Given the description of an element on the screen output the (x, y) to click on. 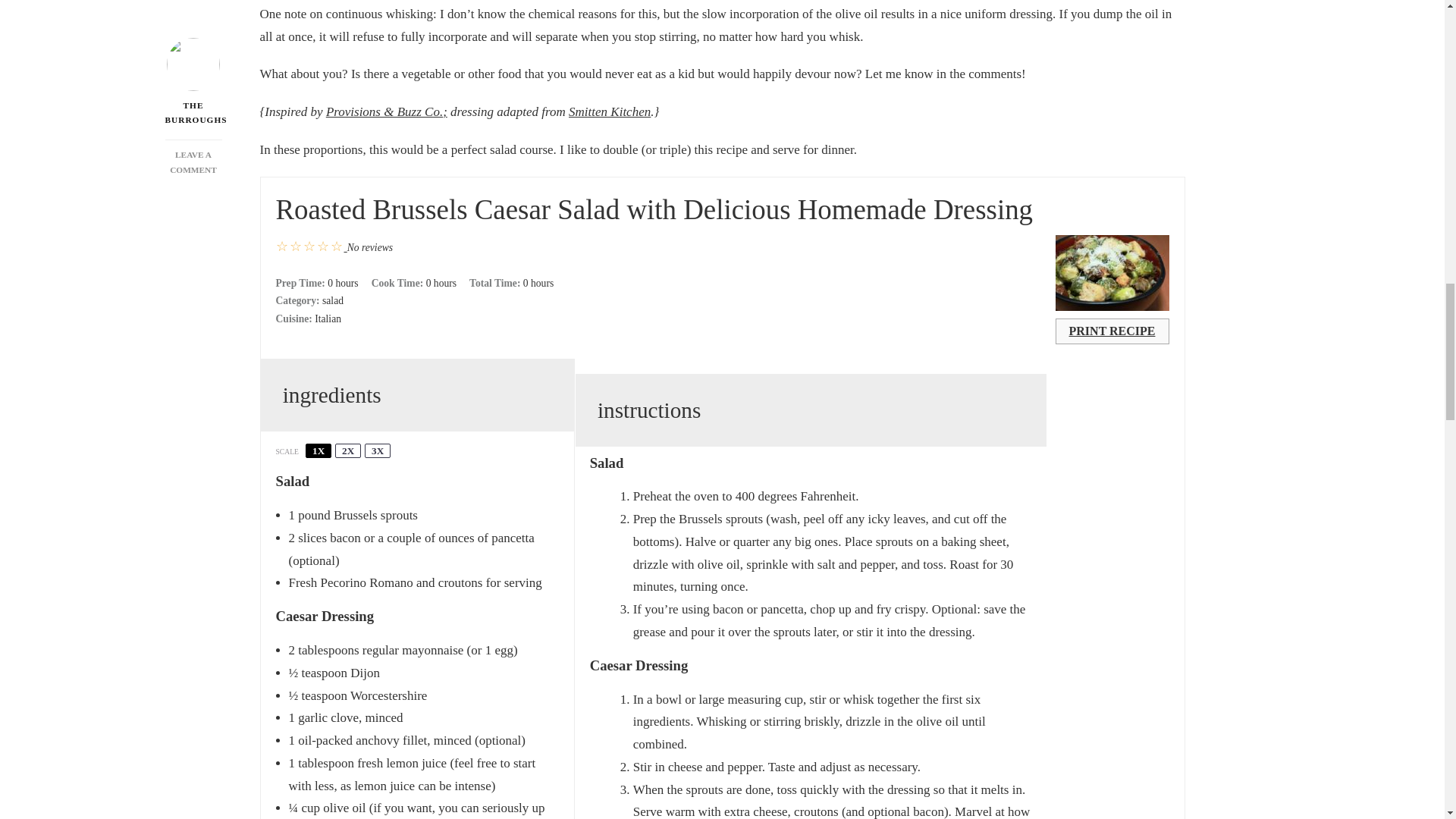
1X (318, 450)
2X (347, 450)
3X (377, 450)
Smitten Kitchen (609, 111)
PRINT RECIPE (1112, 330)
